Given the description of an element on the screen output the (x, y) to click on. 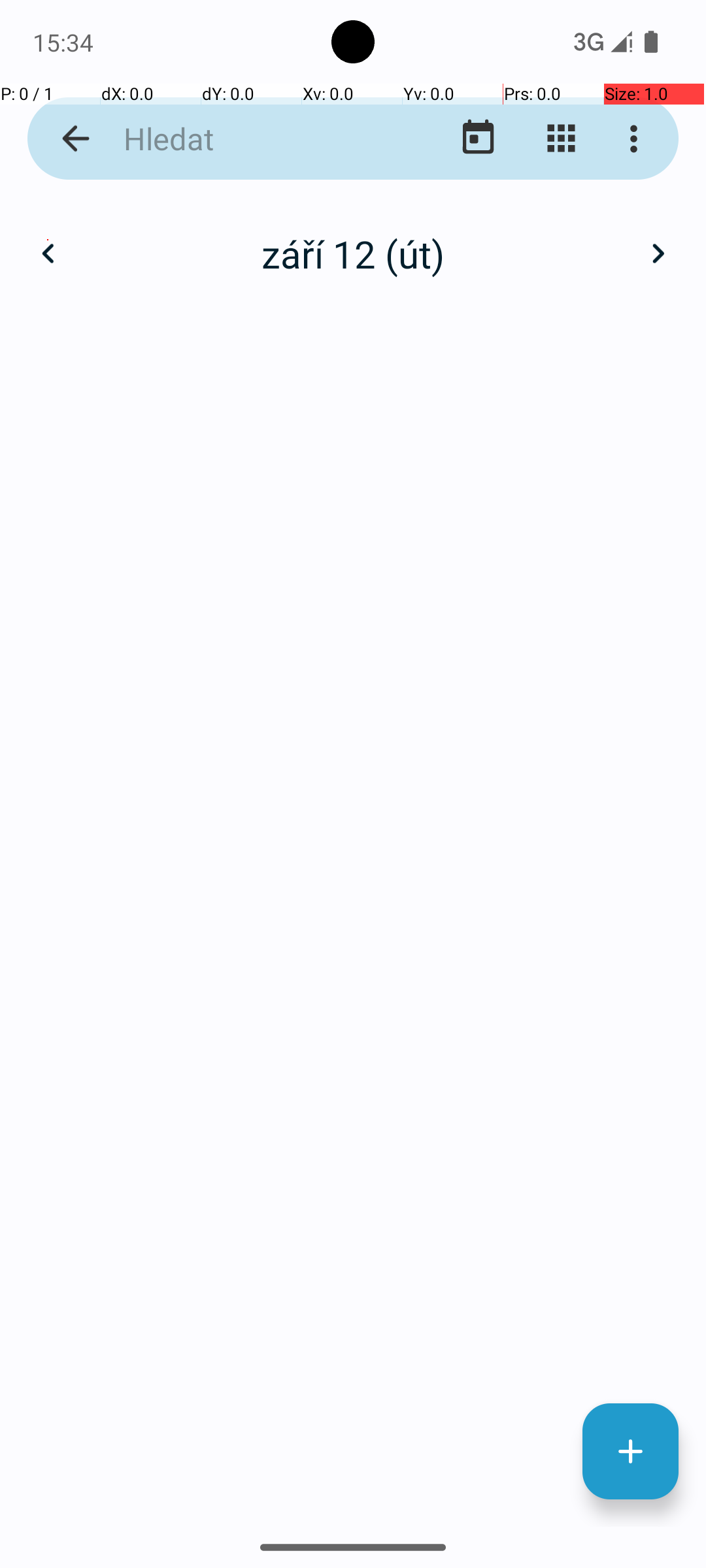
Hledat Element type: android.widget.EditText (252, 138)
Přejít na dnešní datum Element type: android.widget.Button (477, 138)
Změnit zobrazení Element type: android.widget.Button (560, 138)
Další možnosti Element type: android.widget.ImageView (636, 138)
Nová událost Element type: android.widget.ImageButton (630, 1451)
září Element type: android.widget.TextView (352, 239)
září 12 (út) Element type: android.widget.TextView (352, 253)
